Given the description of an element on the screen output the (x, y) to click on. 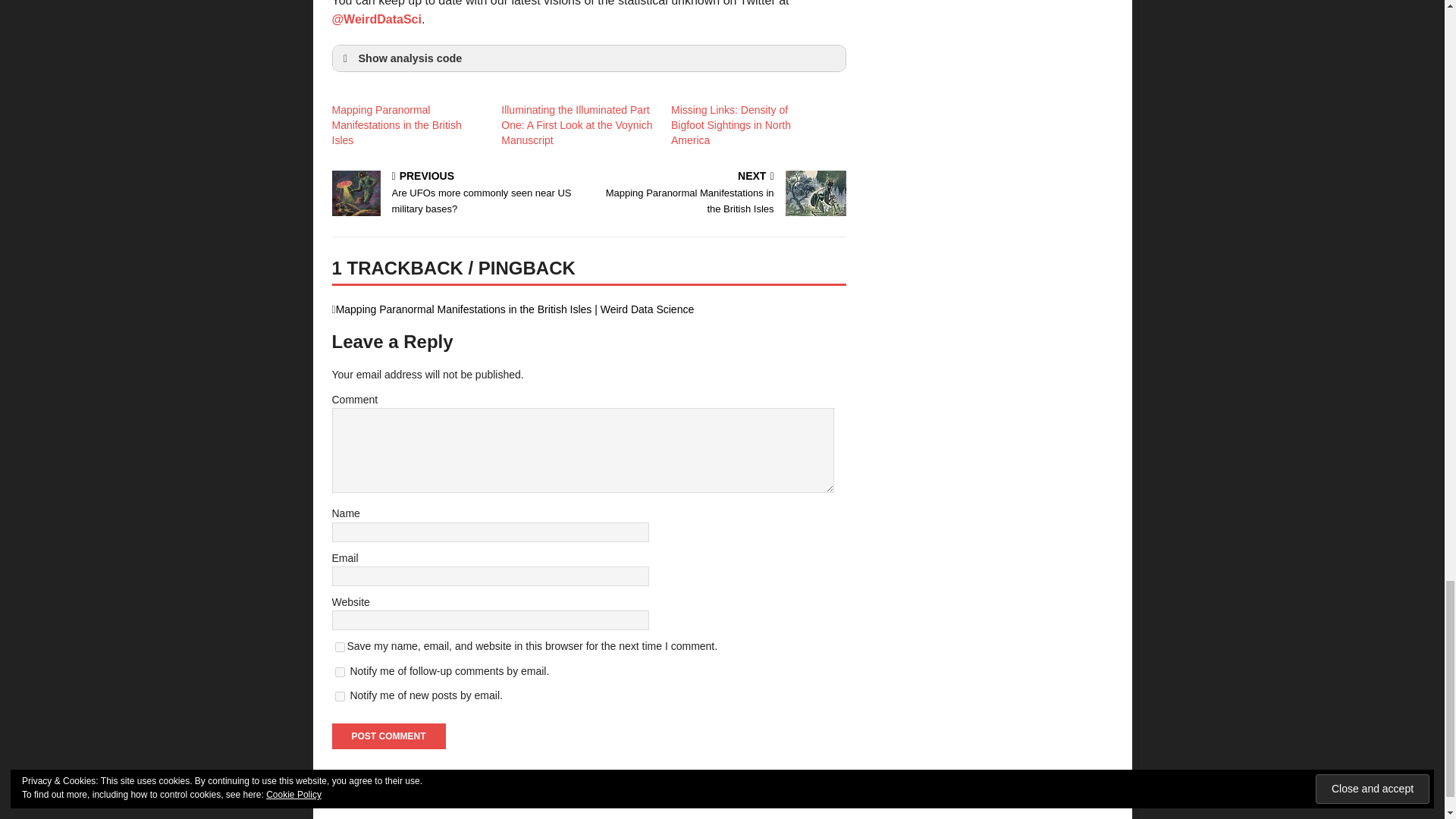
Mapping Paranormal Manifestations in the British Isles (396, 125)
Post Comment (388, 736)
yes (339, 646)
Missing Links: Density of Bigfoot Sightings in North America (730, 125)
Missing Links: Density of Bigfoot Sightings in North America (730, 125)
subscribe (339, 696)
Mapping Paranormal Manifestations in the British Isles (720, 193)
subscribe (396, 125)
Post Comment (339, 672)
